Given the description of an element on the screen output the (x, y) to click on. 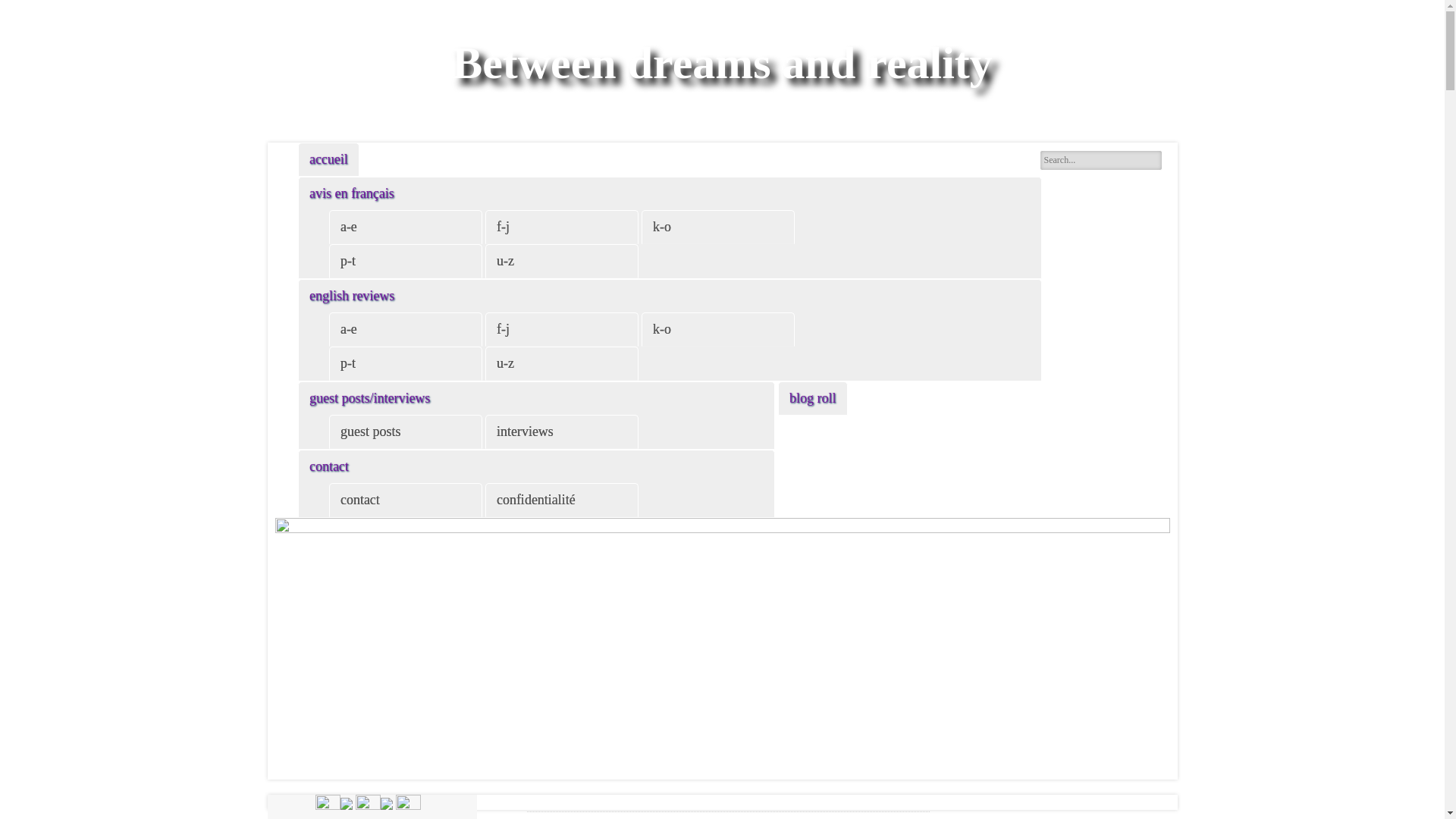
k-o (661, 226)
a-e (348, 226)
contact (328, 466)
contact (359, 499)
f-j (501, 226)
interviews (524, 431)
u-z (504, 260)
guest posts (369, 431)
p-t (347, 260)
accueil (328, 159)
